Given the description of an element on the screen output the (x, y) to click on. 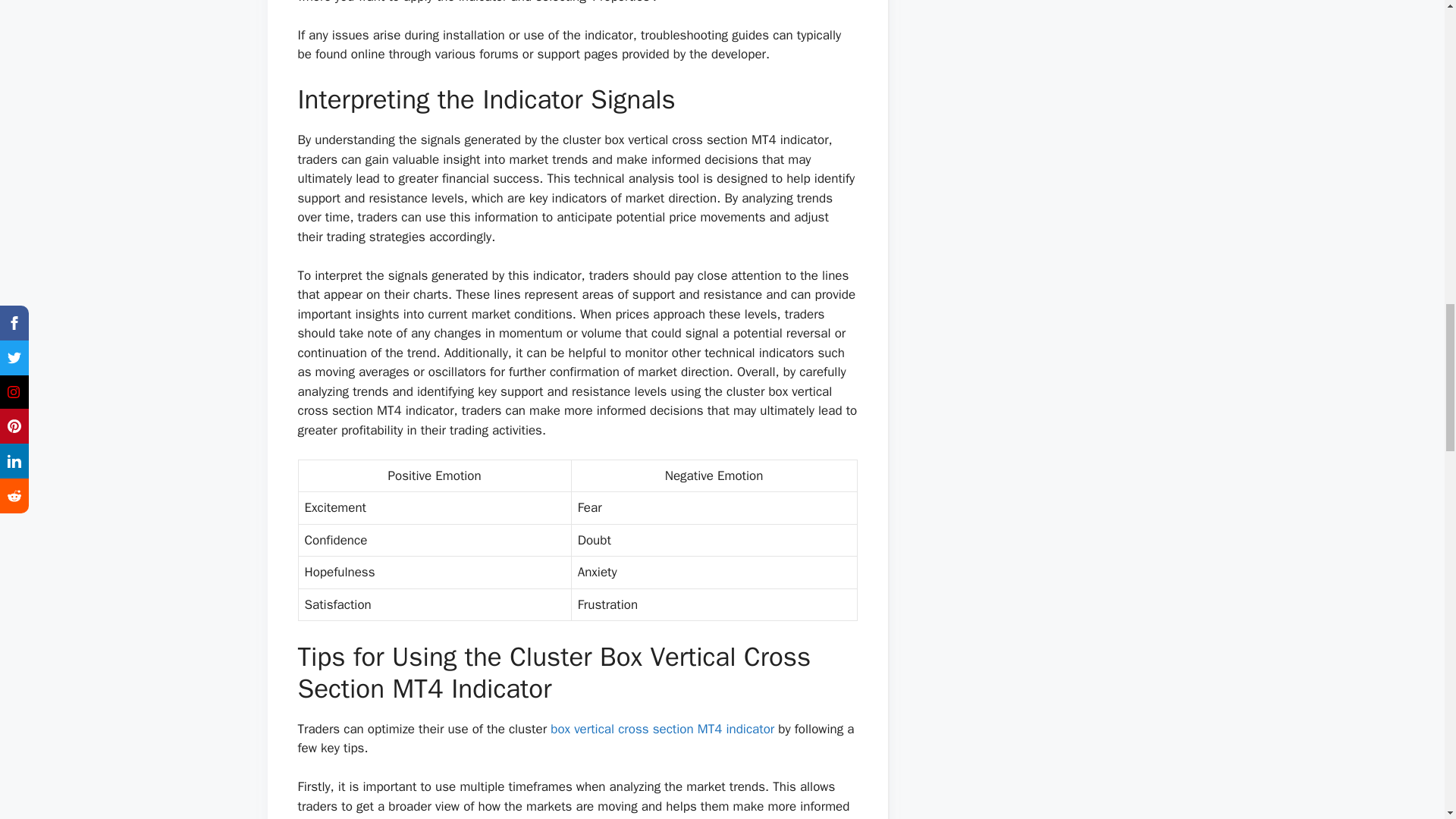
box vertical cross section MT4 indicator (662, 729)
